Given the description of an element on the screen output the (x, y) to click on. 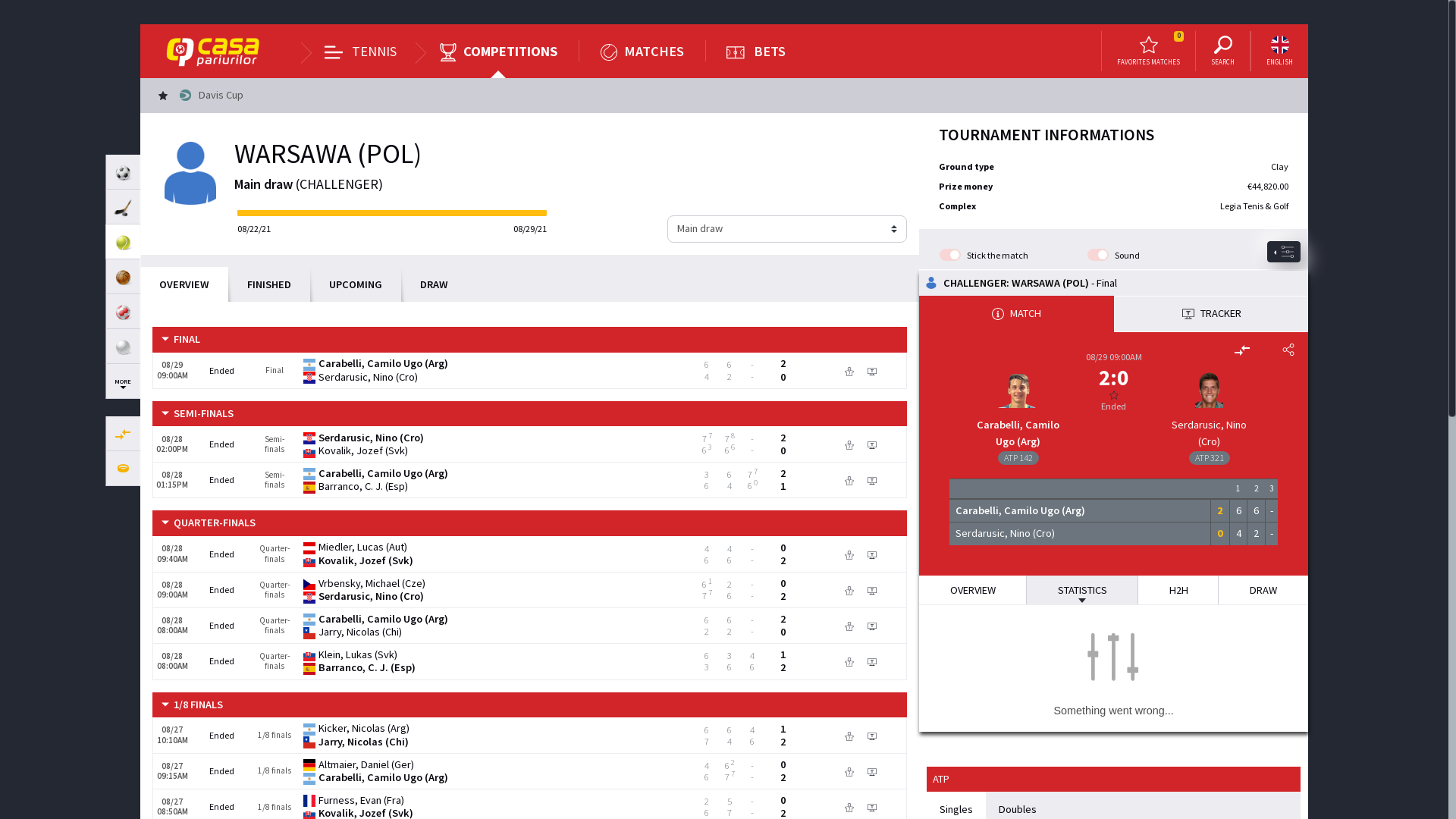
Ice Hockey Element type: text (122, 206)
Tracker Element type: hover (871, 770)
Serdarusic, Nino (Cro) Element type: text (1208, 433)
DRAW Element type: text (434, 284)
Tracker Element type: hover (871, 589)
Tracker Element type: hover (871, 553)
MATCH Element type: text (1016, 313)
FINISHED Element type: text (269, 284)
Detail Element type: hover (848, 444)
Detail Element type: hover (848, 553)
SEARCH Element type: text (1222, 51)
FAVORITES MATCHES
0 Element type: text (1148, 51)
Detail Element type: hover (848, 625)
Tracker Element type: hover (871, 734)
MORE Element type: text (122, 381)
Carabelli, Camilo Ugo (Arg) Element type: text (1017, 433)
MATCHES Element type: text (641, 51)
OVERVIEW Element type: text (184, 284)
STATISTICS Element type: text (1081, 590)
Basketball Element type: text (122, 276)
Tracker Element type: hover (871, 444)
Detail Element type: hover (848, 479)
DRAW Element type: text (1263, 590)
Detail Element type: hover (848, 734)
Handball Element type: text (122, 311)
CHALLENGER: WARSAWA (POL) Element type: text (1015, 282)
BETS Element type: text (755, 51)
COMPETITIONS Element type: text (498, 51)
Detail Element type: hover (848, 589)
ENGLISH Element type: text (1279, 51)
Detail Element type: hover (848, 770)
Tracker Element type: hover (871, 625)
Davis Cup Element type: text (200, 95)
UPCOMING Element type: text (355, 284)
OVERVIEW Element type: text (972, 590)
Detail Element type: hover (848, 369)
H2H Element type: text (1177, 590)
Volleyball Element type: text (122, 346)
Tracker Element type: hover (871, 806)
Detail Element type: hover (848, 806)
Tracker Element type: hover (871, 479)
Detail Element type: hover (848, 661)
TRACKER Element type: text (1210, 313)
compare_arrows Element type: text (1242, 349)
Football Element type: text (122, 171)
Tennis Element type: text (122, 241)
Tracker Element type: hover (871, 369)
Tracker Element type: hover (871, 661)
TENNIS Element type: text (360, 51)
compare_arrows Element type: text (122, 433)
